Given the description of an element on the screen output the (x, y) to click on. 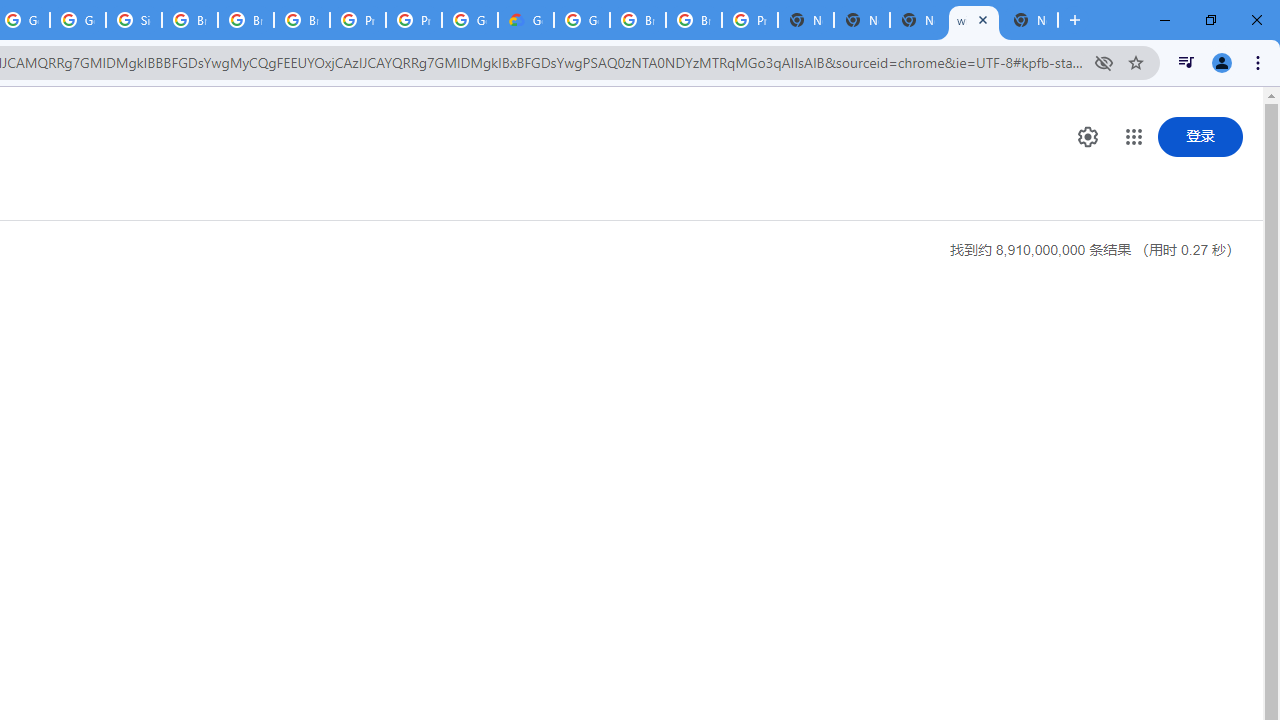
New Tab (1030, 20)
Browse Chrome as a guest - Computer - Google Chrome Help (637, 20)
Google Cloud Estimate Summary (525, 20)
New Tab (806, 20)
Browse Chrome as a guest - Computer - Google Chrome Help (189, 20)
Browse Chrome as a guest - Computer - Google Chrome Help (245, 20)
Google Cloud Platform (469, 20)
